Given the description of an element on the screen output the (x, y) to click on. 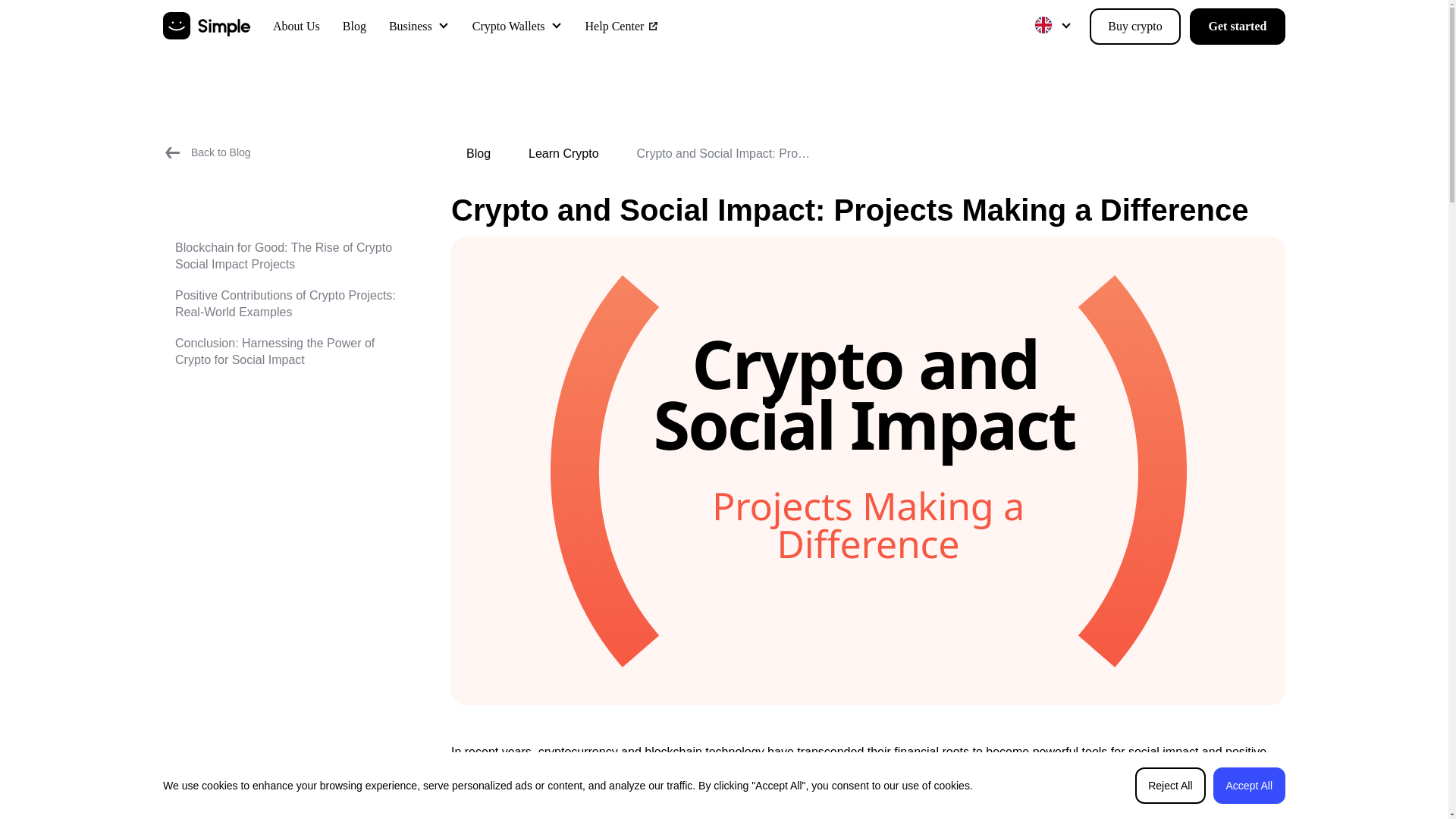
Accept All (1248, 785)
Crypto Wallets (507, 26)
Get started (1237, 26)
Blog (477, 153)
Learn Crypto (563, 153)
Blog (354, 26)
Back to Blog (206, 152)
Help Center (621, 26)
Buy crypto (1134, 26)
Reject All (1170, 785)
About Us (296, 26)
